Given the description of an element on the screen output the (x, y) to click on. 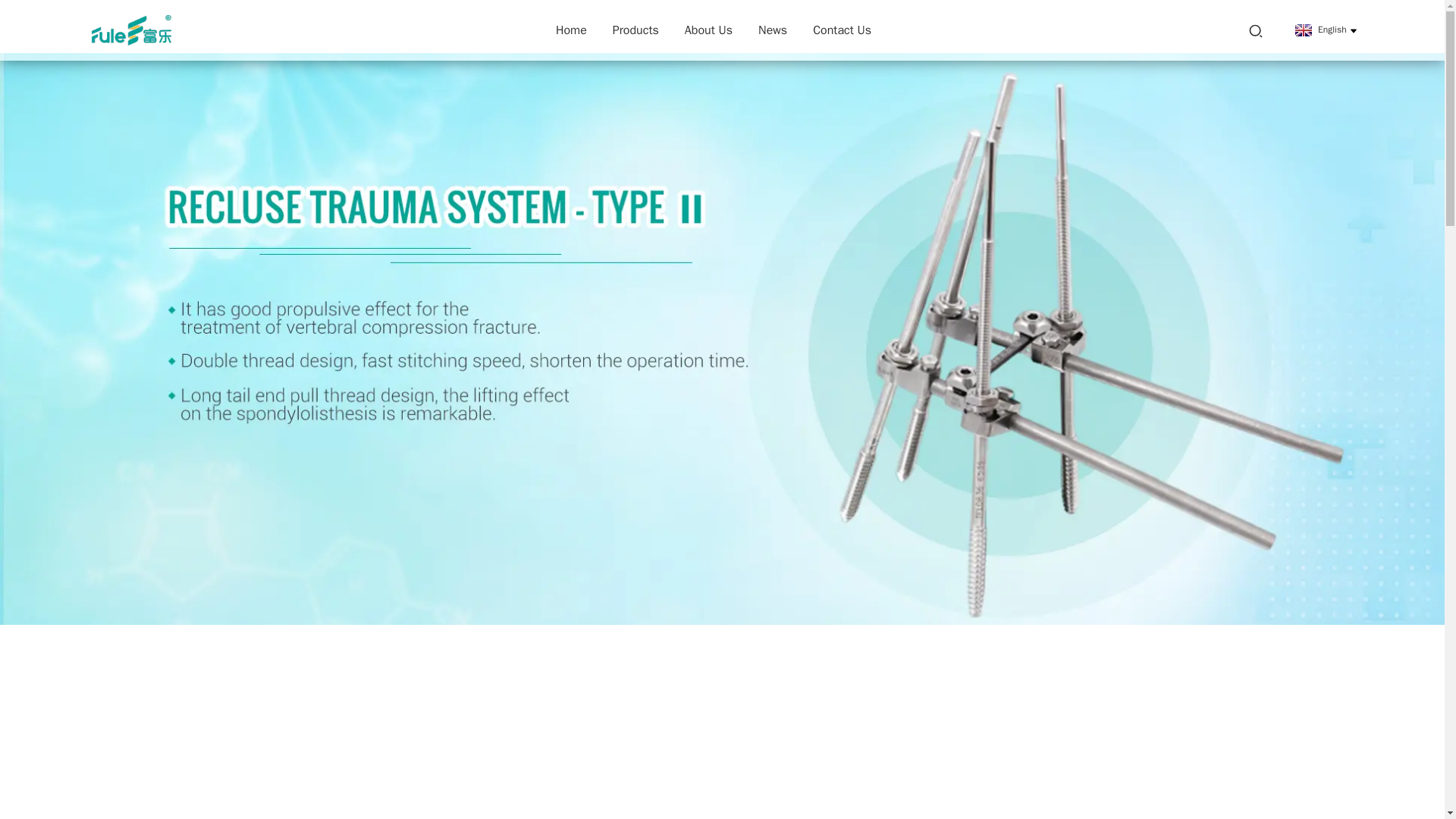
Contact Us (841, 30)
Products (636, 30)
search (1255, 29)
Products (636, 30)
About Us (708, 30)
About Us (708, 30)
Contact Us (841, 30)
